Given the description of an element on the screen output the (x, y) to click on. 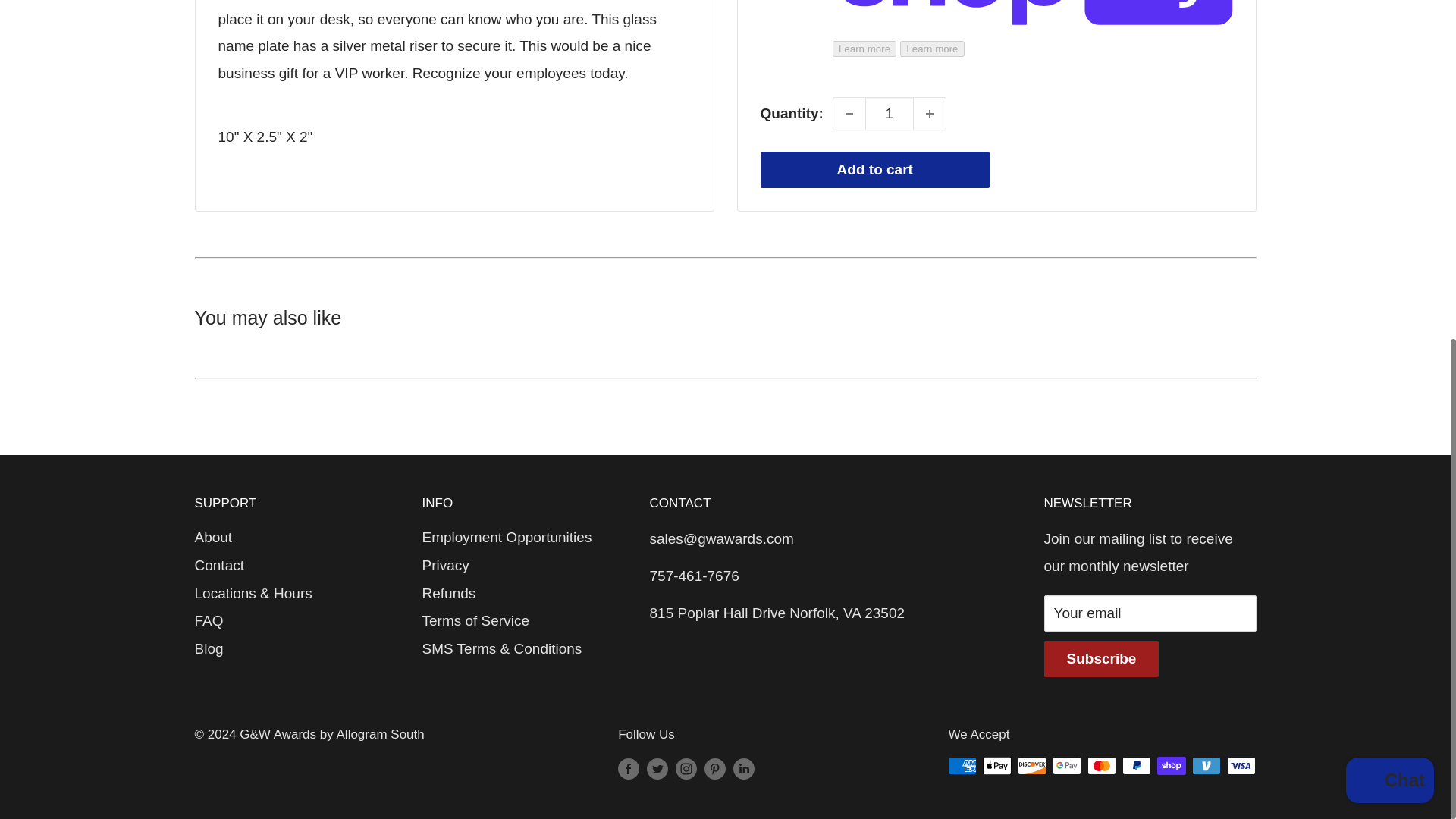
Shopify online store chat (1389, 203)
Decrease quantity by 1 (848, 41)
1 (889, 41)
Increase quantity by 1 (929, 41)
